Given the description of an element on the screen output the (x, y) to click on. 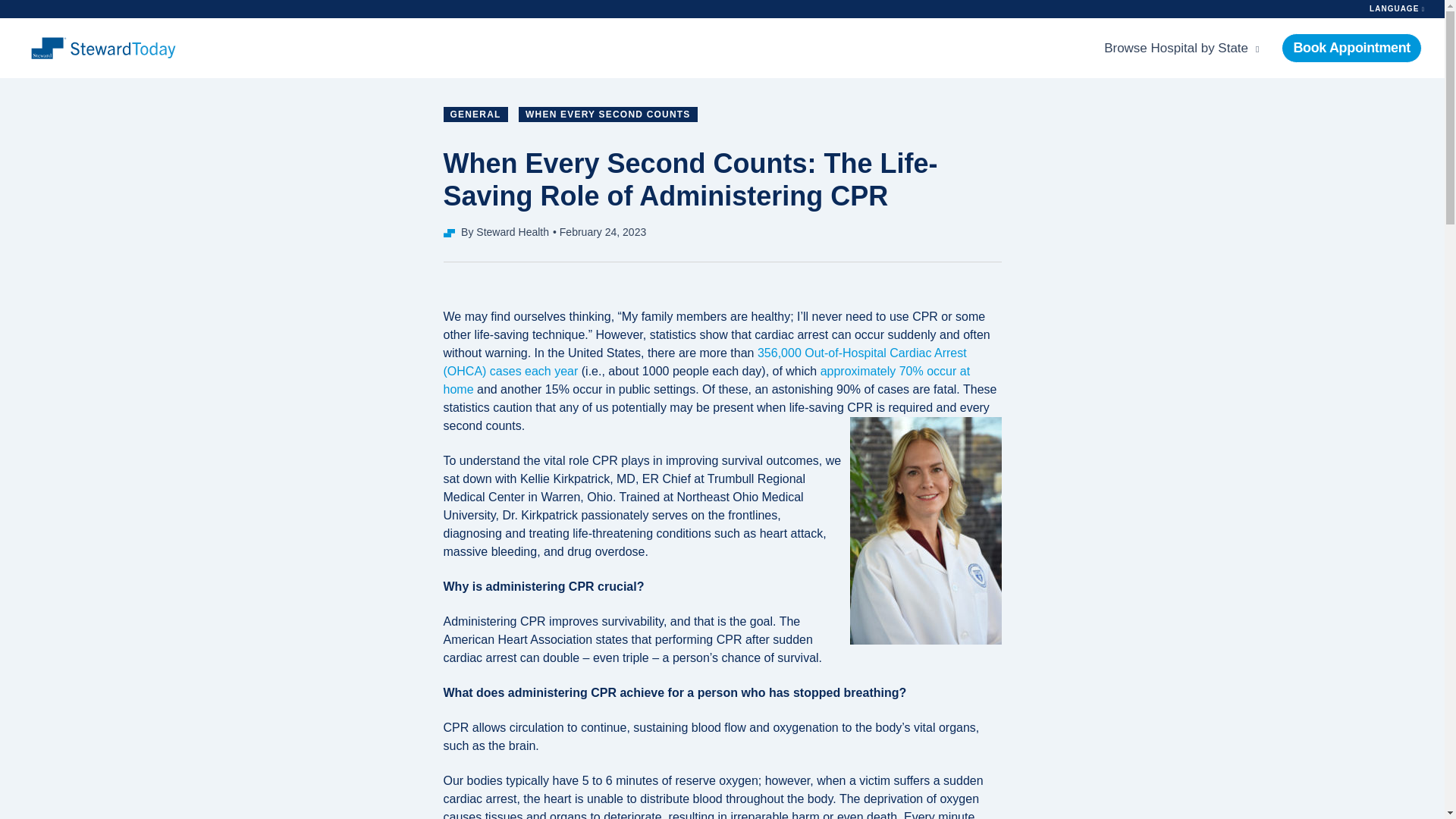
Book Appointment (1351, 48)
GENERAL (474, 114)
WHEN EVERY SECOND COUNTS (607, 114)
